Given the description of an element on the screen output the (x, y) to click on. 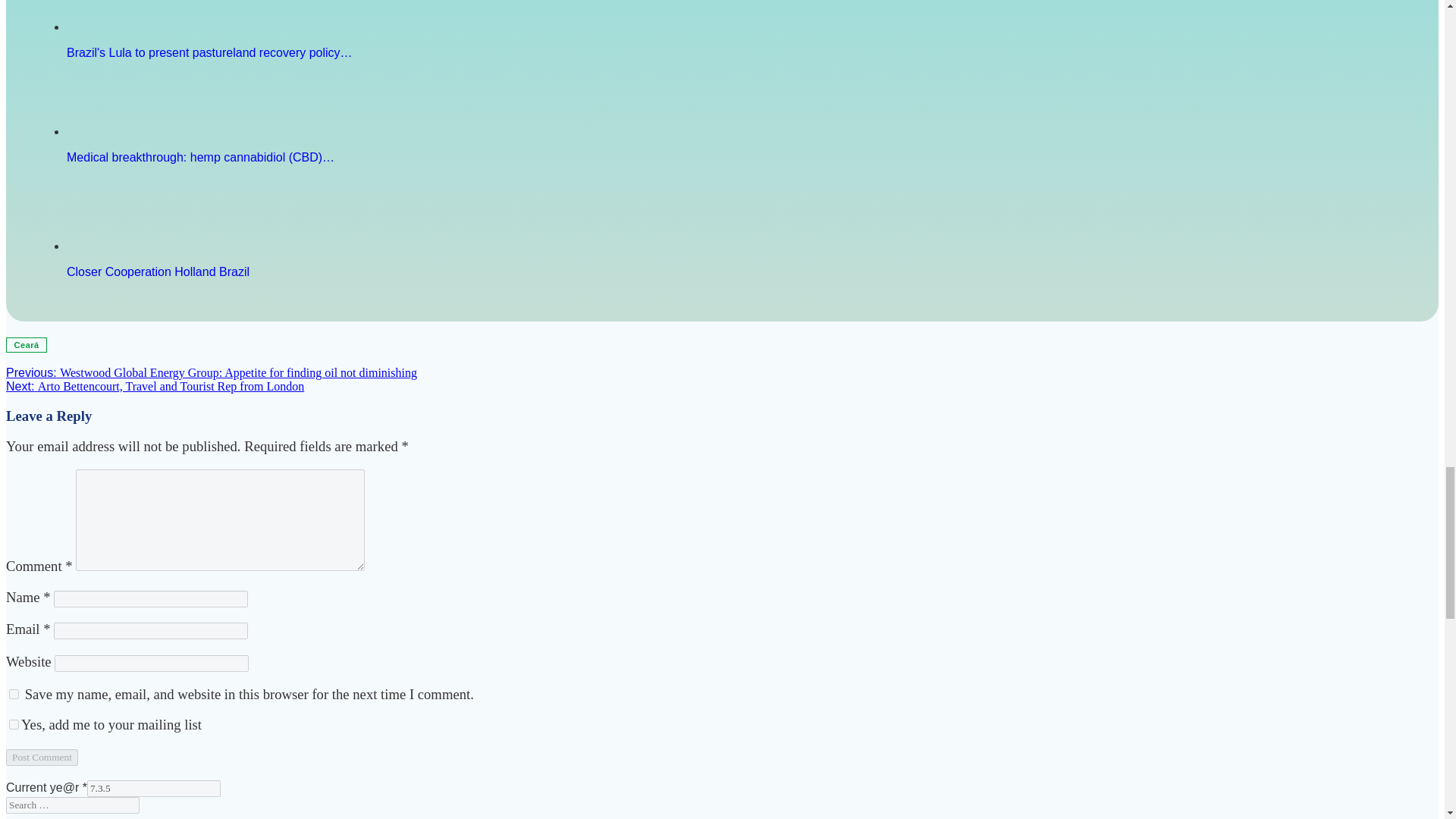
1 (13, 724)
yes (13, 694)
Post Comment (41, 757)
7.3.5 (154, 788)
Post Comment (41, 757)
